Given the description of an element on the screen output the (x, y) to click on. 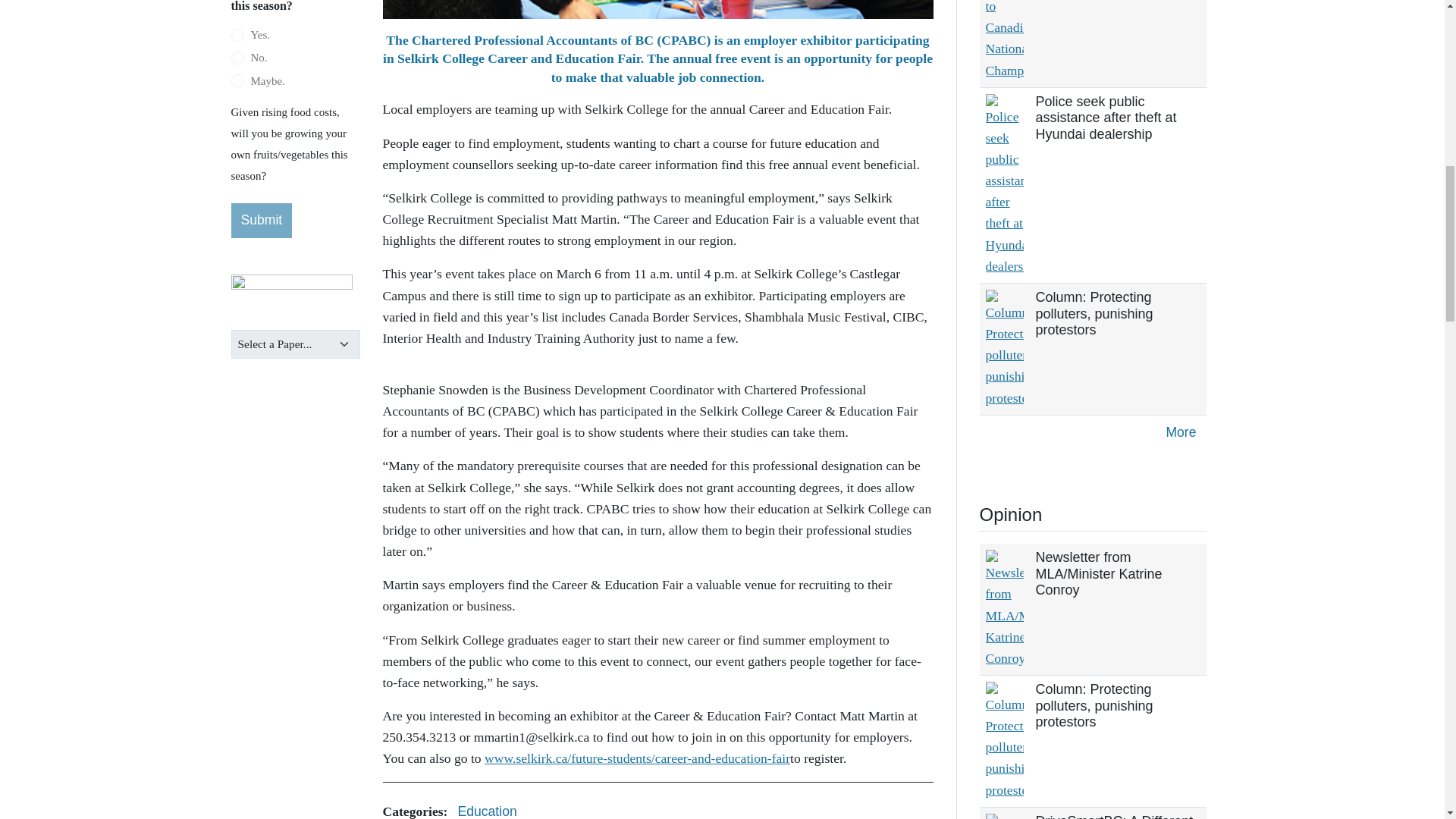
DriveSmartBC: A Different Approach to School Zone Safety (1114, 816)
Maybe. (237, 80)
Column: Protecting polluters, punishing protestors (1094, 313)
Submit (261, 220)
Education (485, 806)
More (1180, 432)
No. (237, 58)
Submit (261, 220)
Yes. (237, 35)
